Given the description of an element on the screen output the (x, y) to click on. 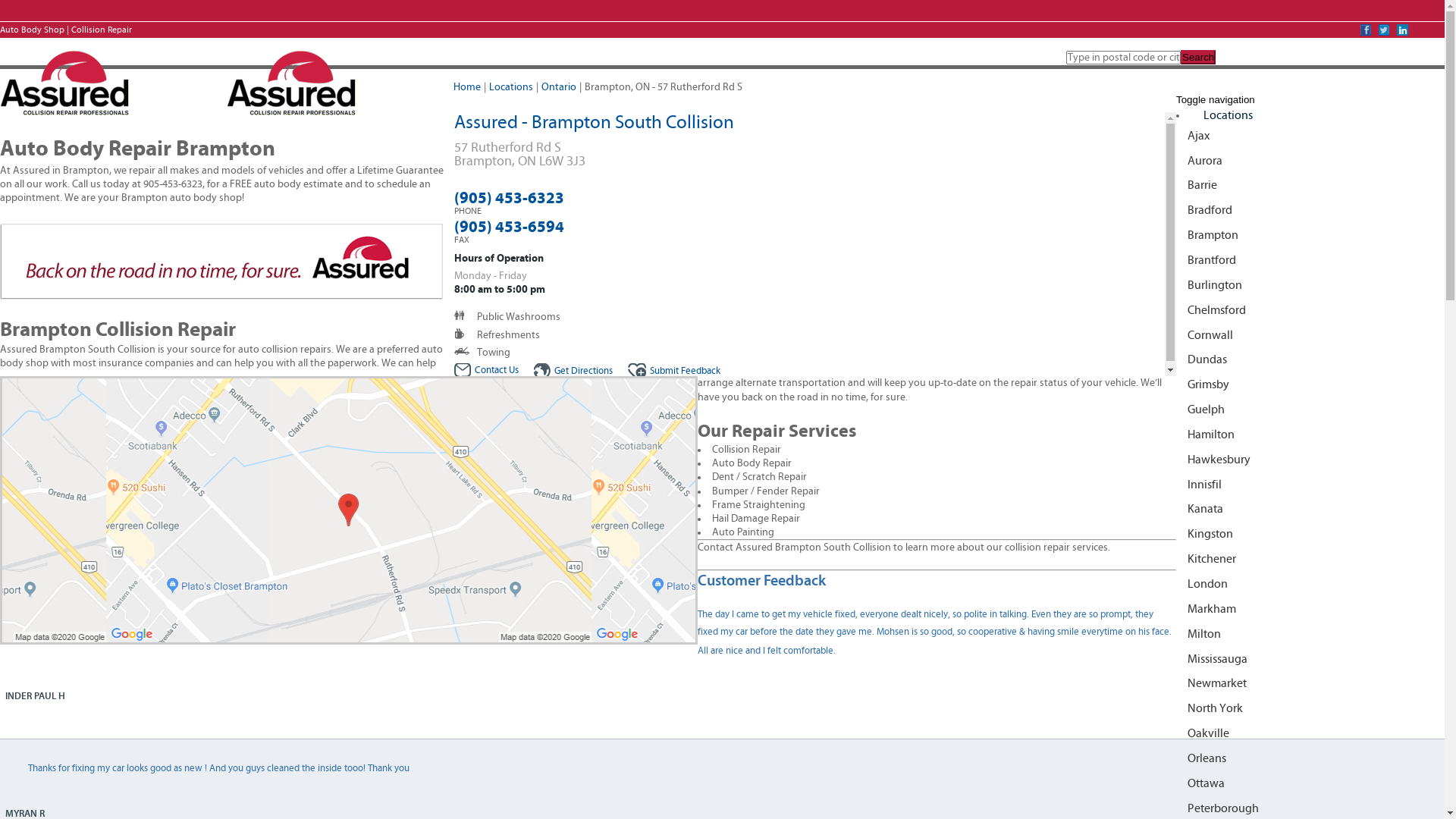
Ontario Element type: text (558, 86)
Kingston Element type: text (1310, 533)
Grimsby Element type: text (1310, 384)
London Element type: text (1310, 583)
Brampton Element type: text (1310, 234)
Guelph Element type: text (1310, 409)
Hamilton Element type: text (1310, 434)
Oakville Element type: text (1310, 733)
Newmarket Element type: text (1310, 683)
Burlington Element type: text (1310, 285)
Search Element type: text (1197, 57)
Home Element type: text (466, 86)
Submit Feedback Element type: text (673, 371)
Chelmsford Element type: text (1310, 310)
Dundas Element type: text (1310, 359)
Cornwall Element type: text (1310, 335)
Ottawa Element type: text (1310, 783)
Locations Element type: text (511, 86)
Milton Element type: text (1310, 633)
Locations Element type: text (1228, 115)
Brantford Element type: text (1310, 260)
Mississauga Element type: text (1310, 658)
Kitchener Element type: text (1310, 558)
Get Directions Element type: text (572, 371)
Kanata Element type: text (1310, 508)
Orleans Element type: text (1310, 758)
(905) 453-6323 Element type: text (508, 197)
Hawkesbury Element type: text (1310, 459)
Barrie Element type: text (1310, 184)
Aurora Element type: text (1310, 160)
Innisfil Element type: text (1310, 484)
North York Element type: text (1310, 708)
Toggle navigation Element type: text (1215, 99)
Markham Element type: text (1310, 608)
Contact Us Element type: text (485, 370)
Bradford Element type: text (1310, 209)
Ajax Element type: text (1310, 135)
(905) 453-6594 Element type: text (508, 226)
